Given the description of an element on the screen output the (x, y) to click on. 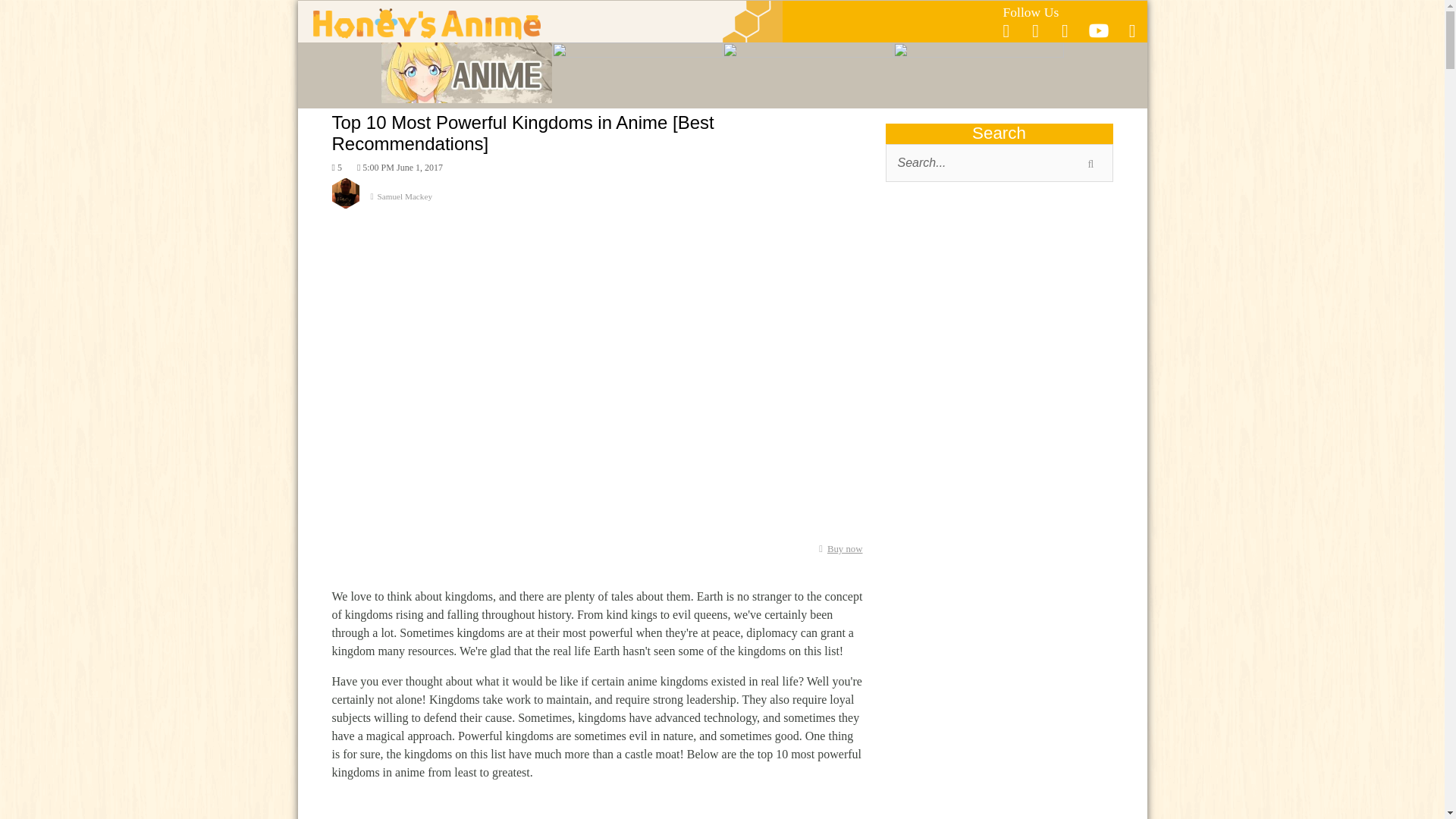
Samuel Mackey (597, 202)
Our Spotify (1064, 30)
Our Twitter (1035, 30)
Our Instagram (1006, 30)
Our RSS (1132, 30)
banner-honeyfeed-malcontest (999, 765)
Search... (999, 162)
Search... (999, 162)
Buy now (837, 548)
5 (336, 167)
Our Youtube (1098, 35)
